Given the description of an element on the screen output the (x, y) to click on. 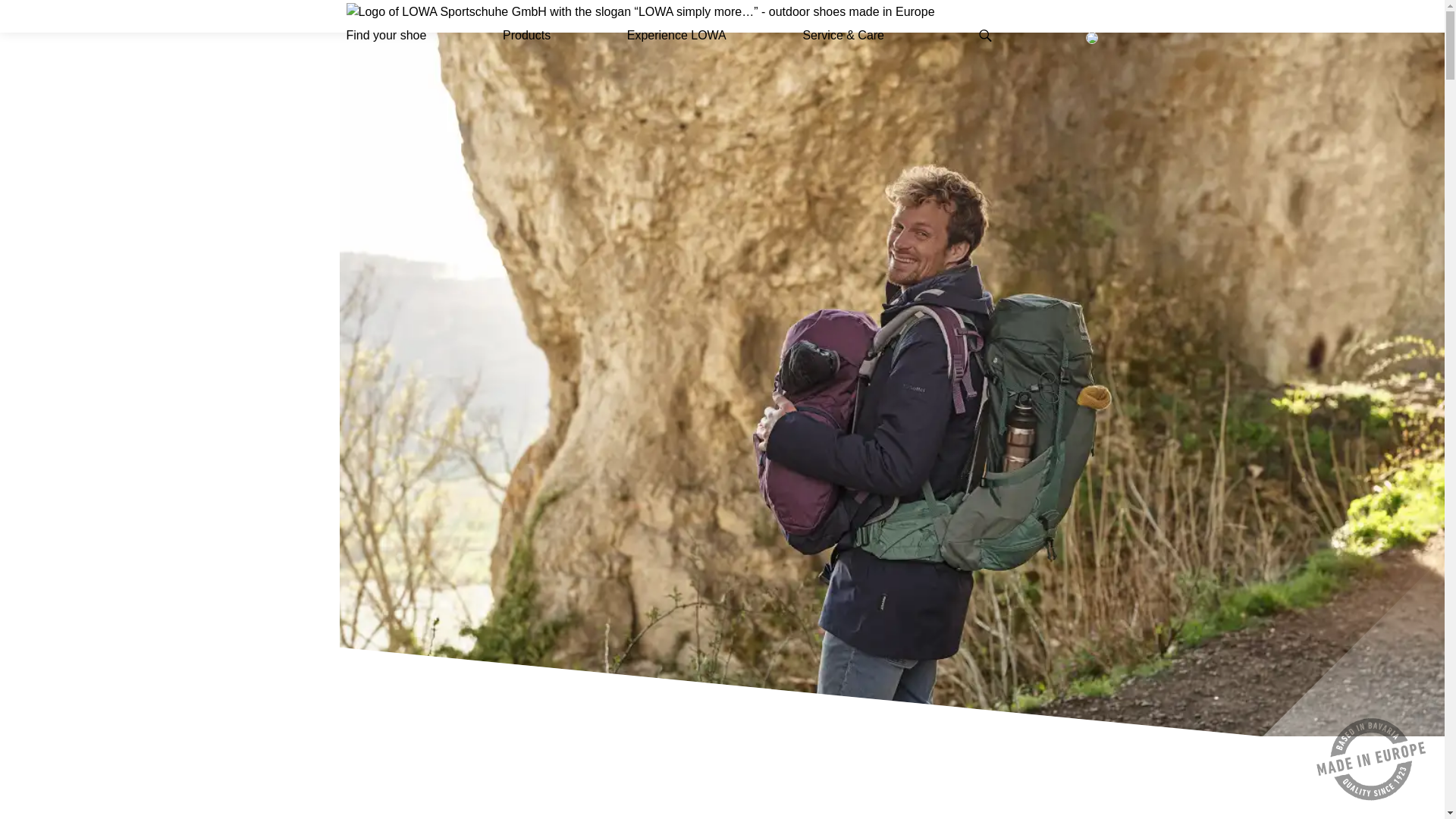
Find your shoe (386, 37)
Products (526, 37)
Experience LOWA (676, 37)
